Given the description of an element on the screen output the (x, y) to click on. 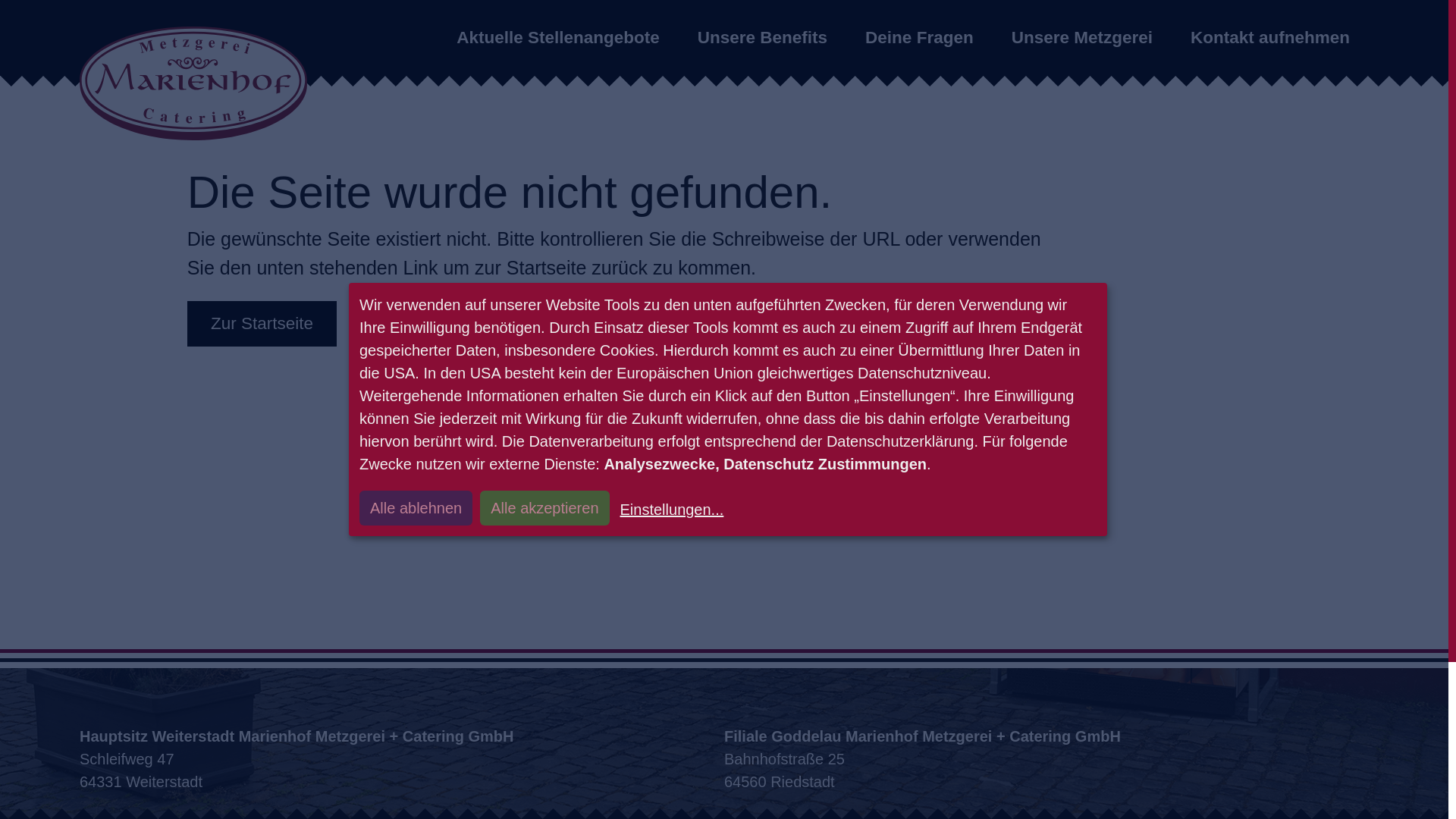
Zur Startseite (193, 83)
Einstellungen... (670, 508)
Alle akzeptieren (544, 507)
Deine Fragen (919, 37)
Aktuelle Stellenangebote (558, 37)
Zur Startseite (262, 323)
Unsere Metzgerei (1081, 37)
Unsere Benefits (762, 37)
Kontakt aufnehmen (1269, 37)
Alle ablehnen (415, 507)
Zur Startseite (262, 323)
